Given the description of an element on the screen output the (x, y) to click on. 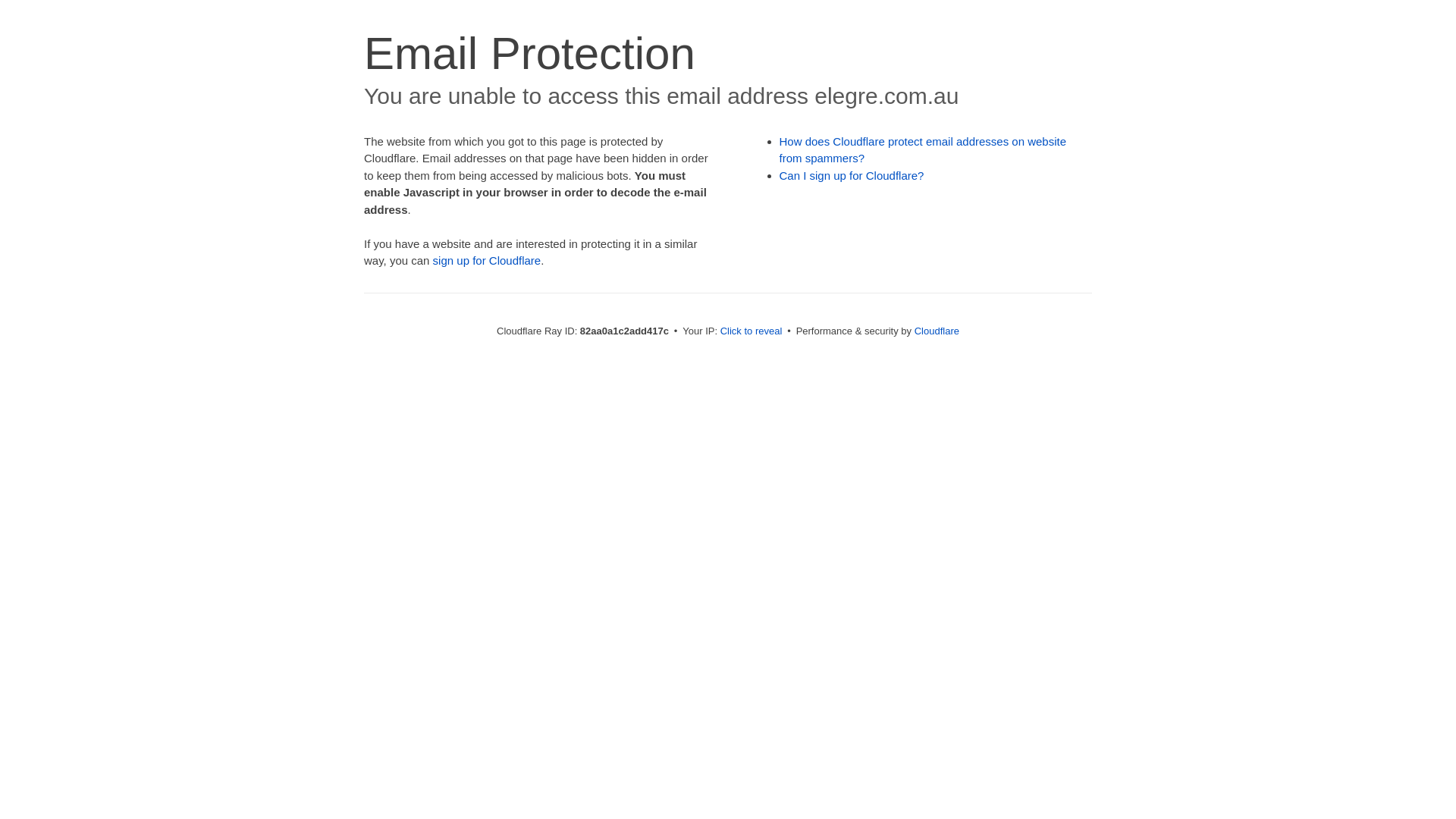
Can I sign up for Cloudflare? Element type: text (851, 175)
Cloudflare Element type: text (936, 330)
Click to reveal Element type: text (751, 330)
sign up for Cloudflare Element type: text (487, 260)
